Given the description of an element on the screen output the (x, y) to click on. 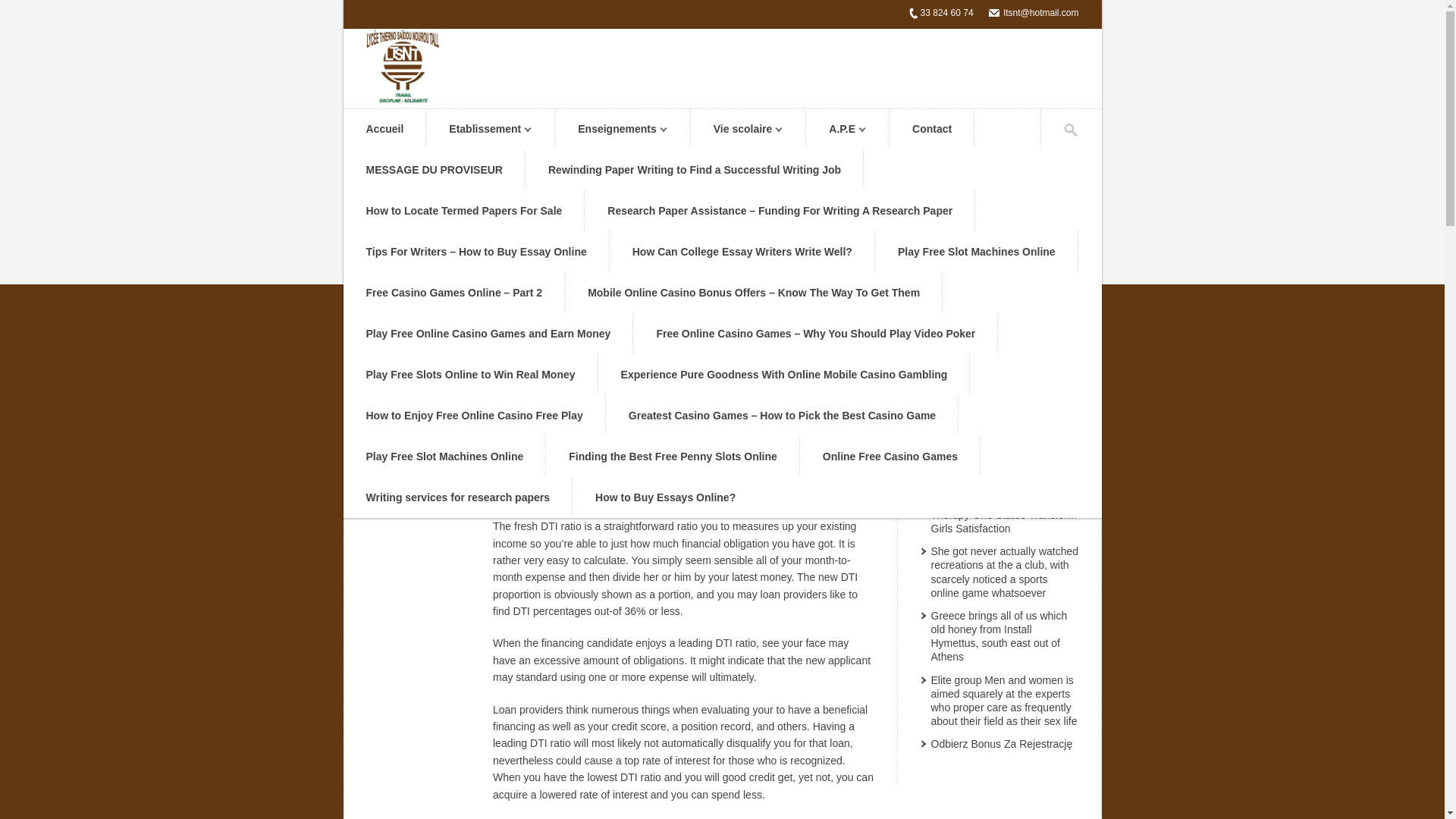
Accueil (384, 129)
